Given the description of an element on the screen output the (x, y) to click on. 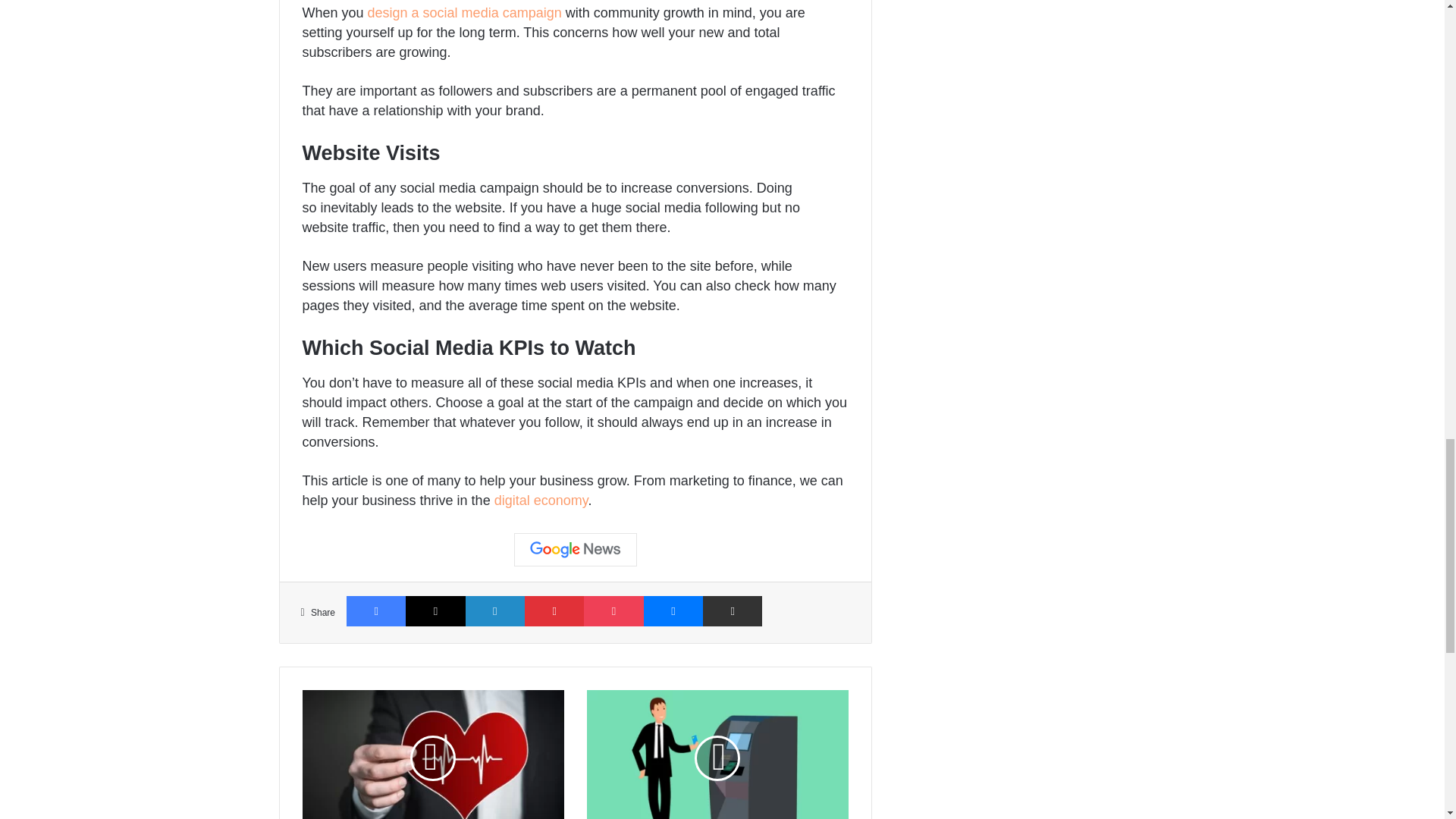
design a social media campaign (465, 12)
digital economy (541, 500)
X (435, 611)
LinkedIn (494, 611)
Facebook (376, 611)
Google News (575, 549)
Pocket (613, 611)
Messenger (673, 611)
Pinterest (553, 611)
X (435, 611)
Pinterest (553, 611)
Facebook (376, 611)
Pocket (613, 611)
LinkedIn (494, 611)
